Given the description of an element on the screen output the (x, y) to click on. 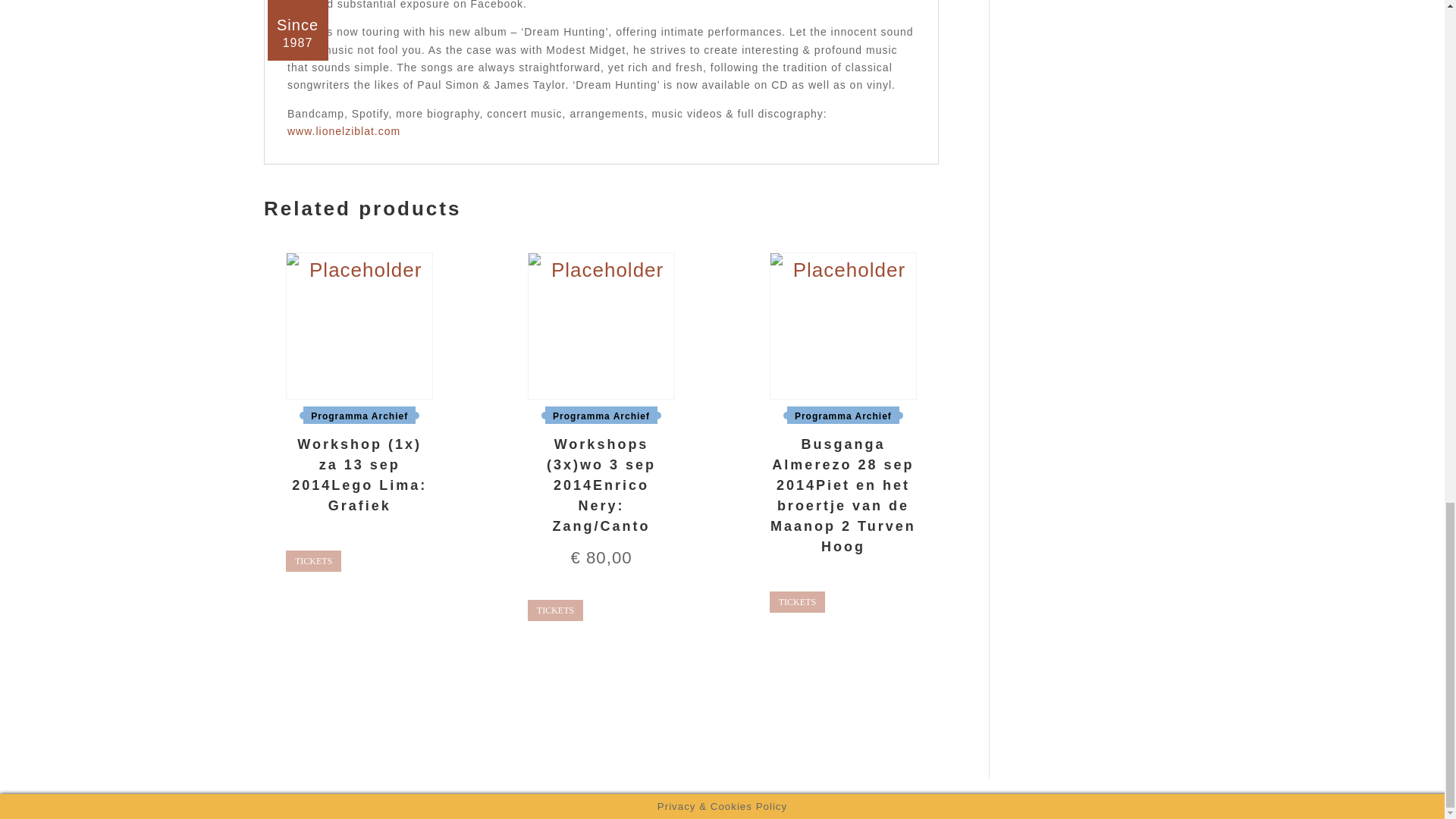
TICKETS (312, 560)
TICKETS (797, 601)
TICKETS (555, 609)
www.lionelziblat.com (343, 131)
